Given the description of an element on the screen output the (x, y) to click on. 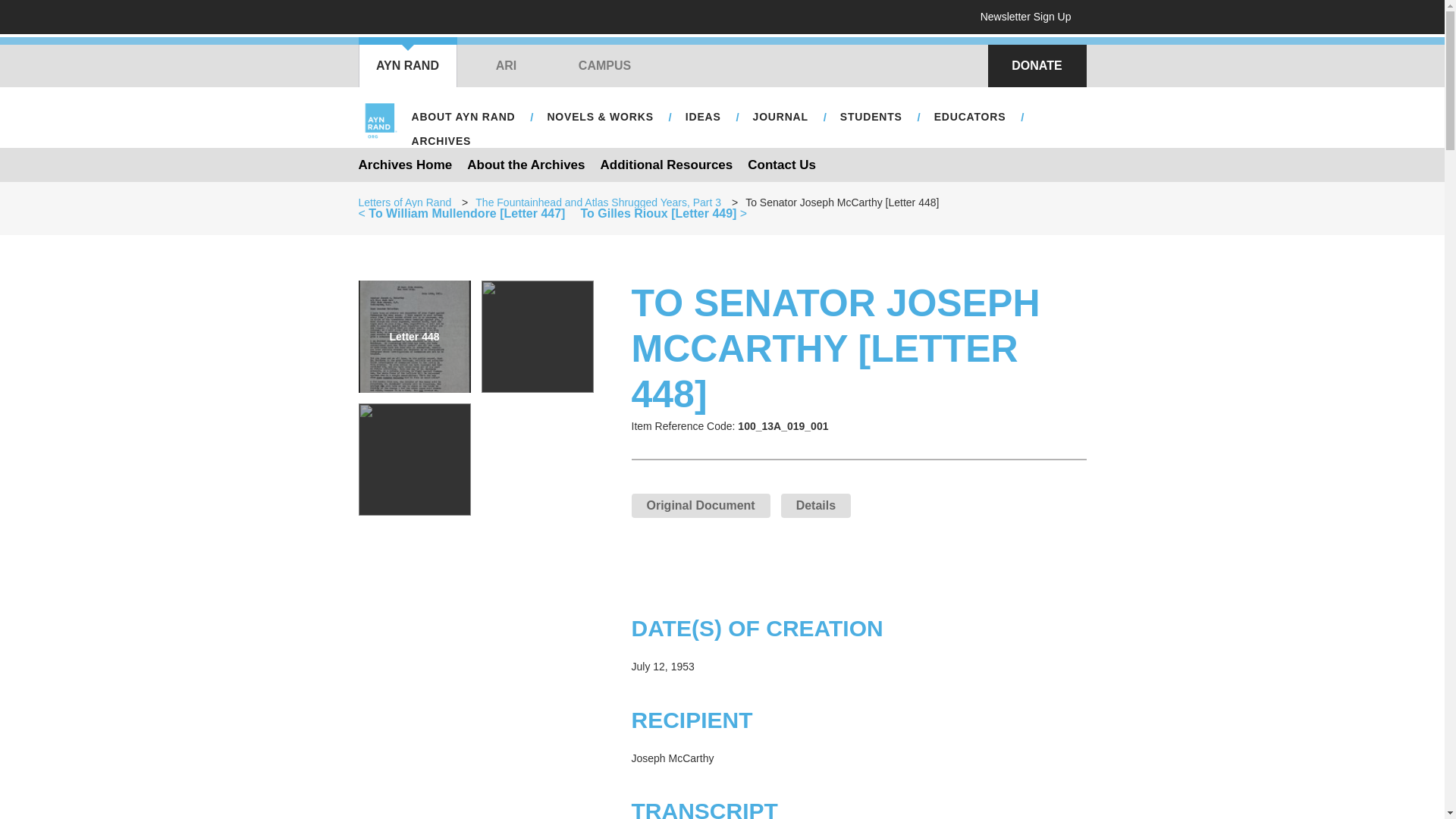
The Fountainhead and Atlas Shrugged Years, Part 3 (598, 202)
IDEAS (703, 116)
ARCHIVES (441, 140)
Newsletter Sign Up (1031, 16)
ARI (505, 65)
Contact Us (781, 164)
Letters of Ayn Rand (404, 202)
STUDENTS (871, 116)
Archives Home (404, 164)
AYN RAND (407, 65)
